Given the description of an element on the screen output the (x, y) to click on. 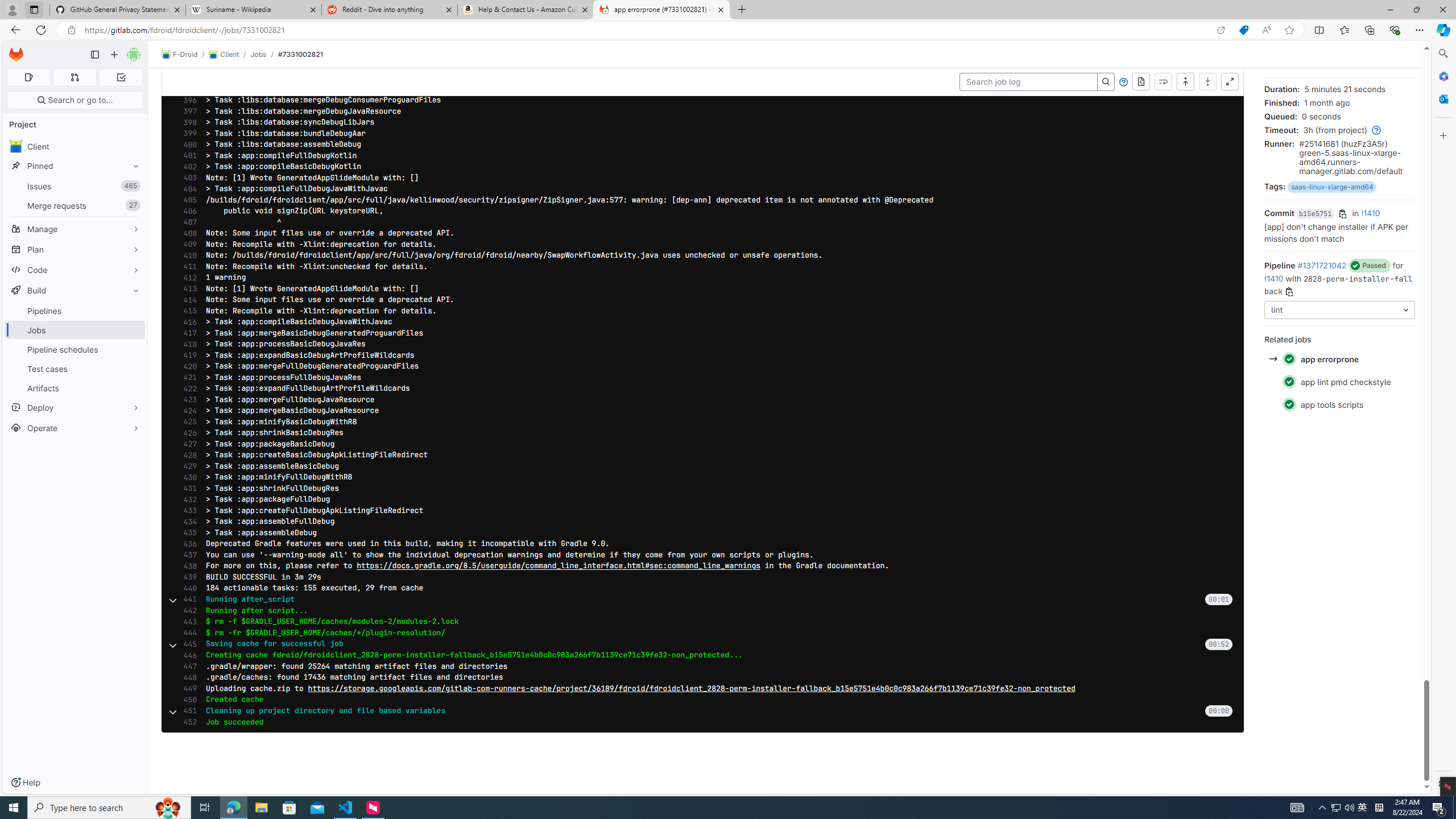
436 (186, 544)
Issues 465 (74, 185)
410 (186, 255)
Test cases (74, 368)
426 (186, 432)
Operate (74, 427)
#7331002821 (300, 53)
Client (223, 54)
438 (186, 566)
401 (186, 155)
